Given the description of an element on the screen output the (x, y) to click on. 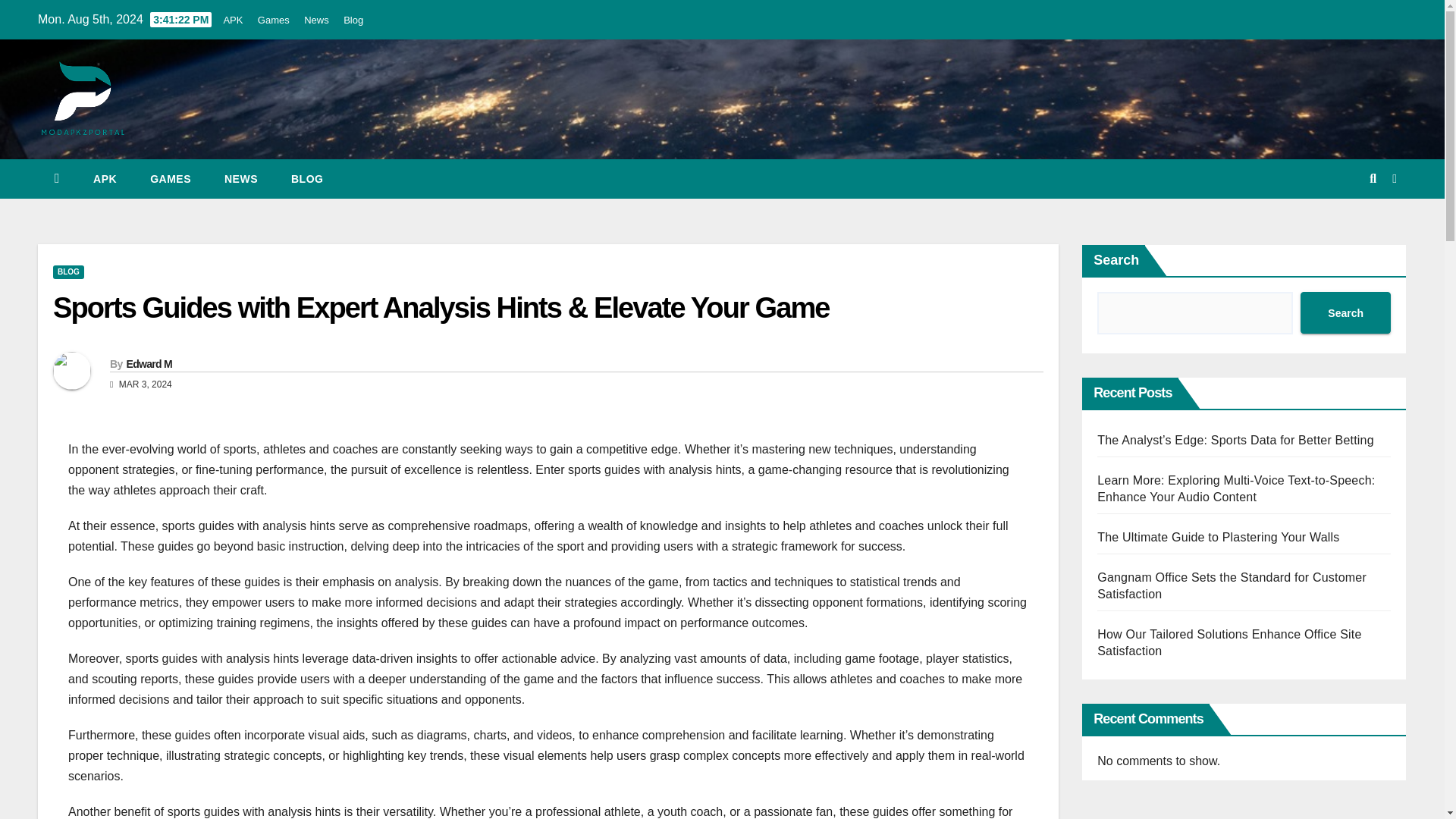
NEWS (241, 178)
Games (170, 178)
Games (273, 19)
News (241, 178)
Edward M (148, 363)
Blog (307, 178)
GAMES (170, 178)
Blog (352, 19)
BLOG (307, 178)
News (316, 19)
BLOG (68, 272)
APK (105, 178)
APK (105, 178)
APK (232, 19)
